Given the description of an element on the screen output the (x, y) to click on. 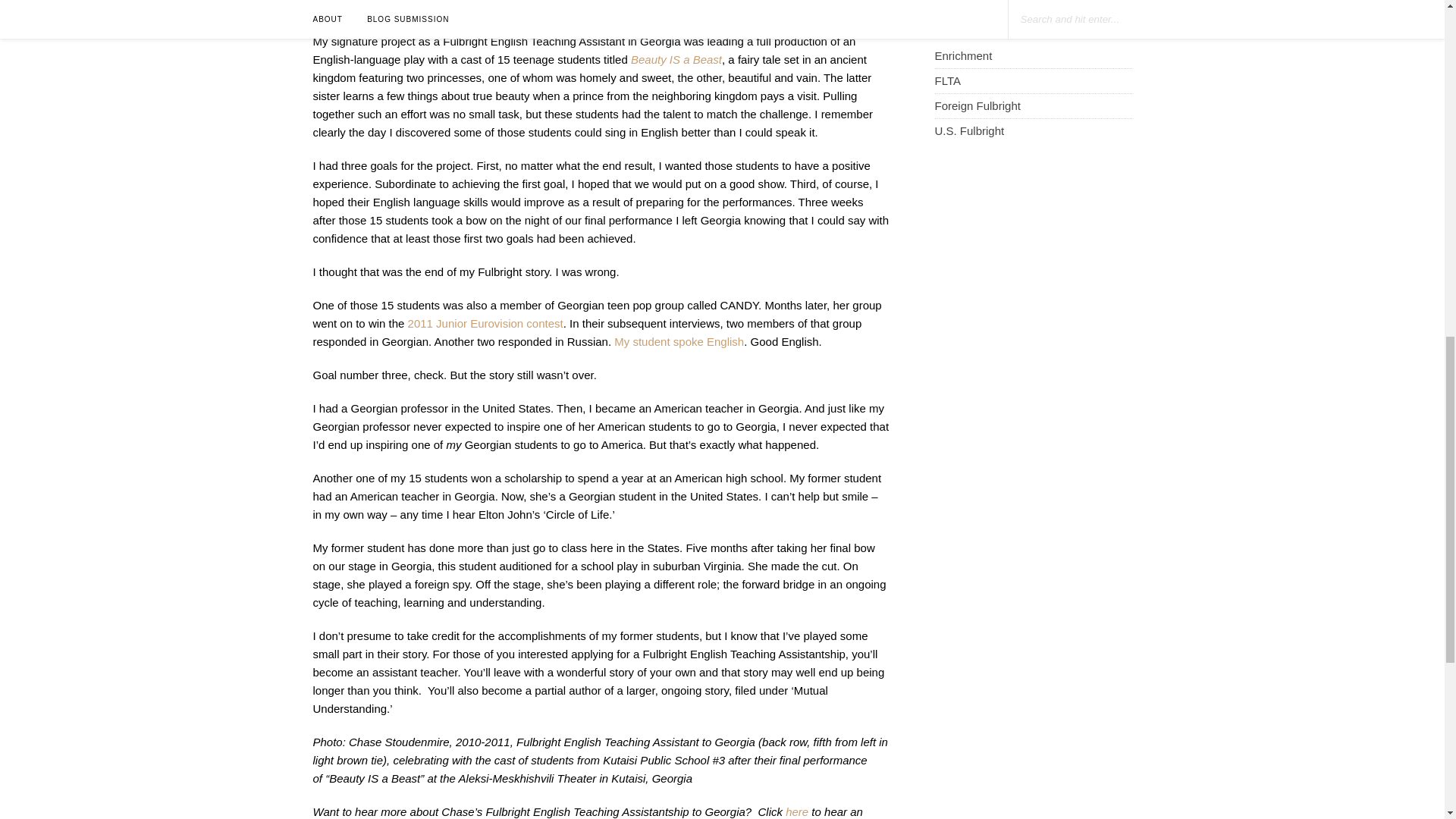
My student spoke English (679, 369)
Beauty IS a Beast (676, 87)
2011 Junior Eurovision contest (485, 350)
